Given the description of an element on the screen output the (x, y) to click on. 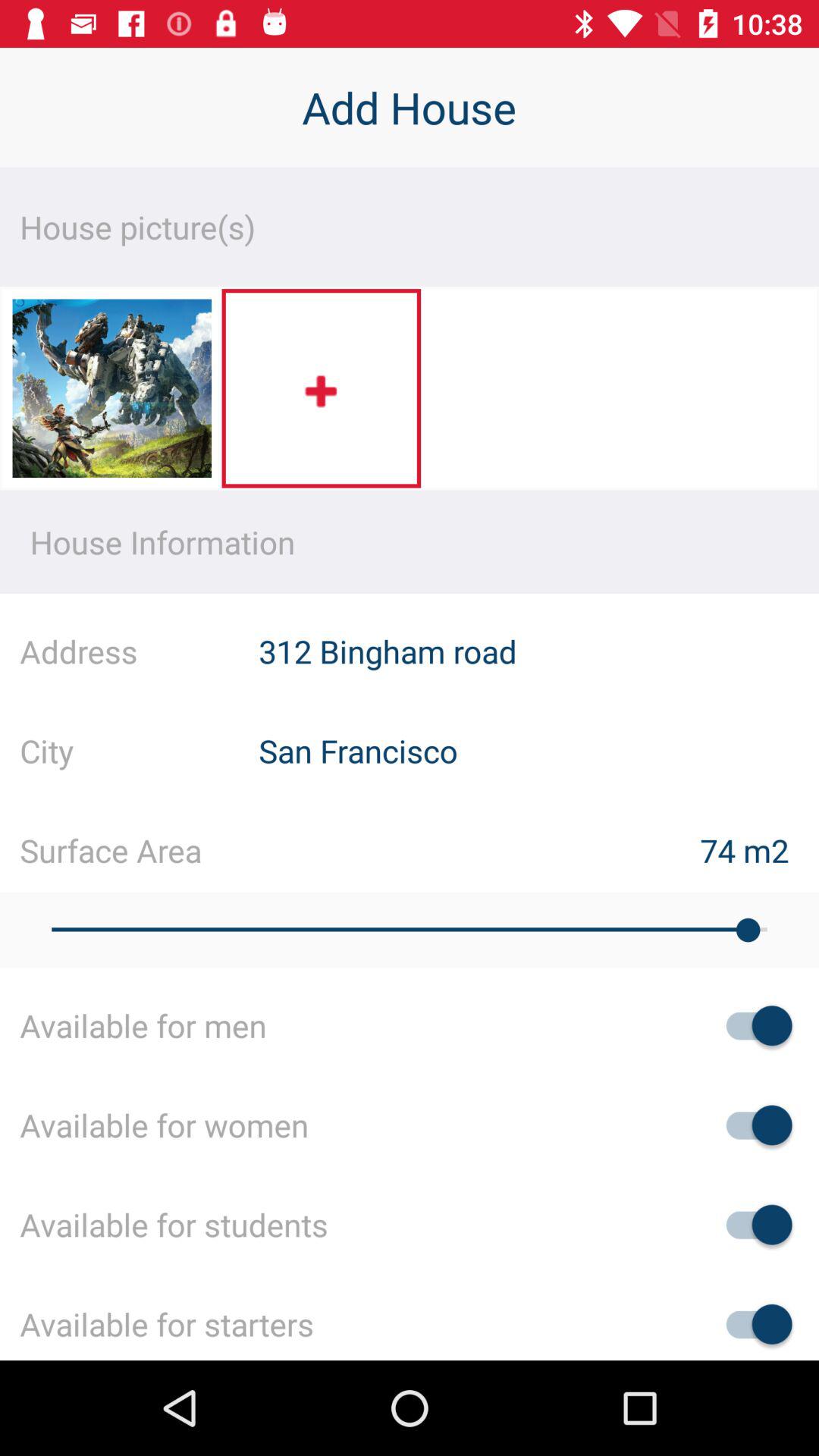
launch the 312 bingham road (538, 650)
